Given the description of an element on the screen output the (x, y) to click on. 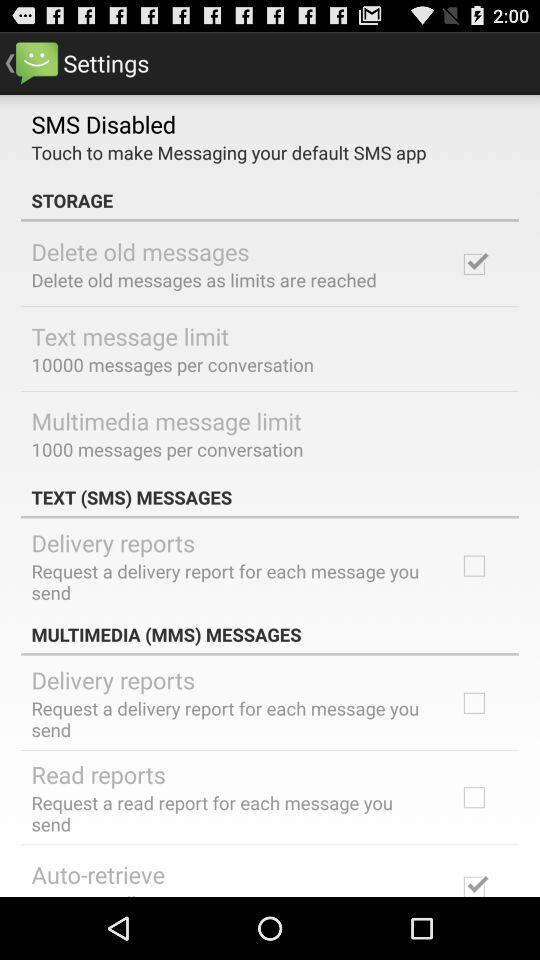
press icon below the 1000 messages per app (270, 497)
